Given the description of an element on the screen output the (x, y) to click on. 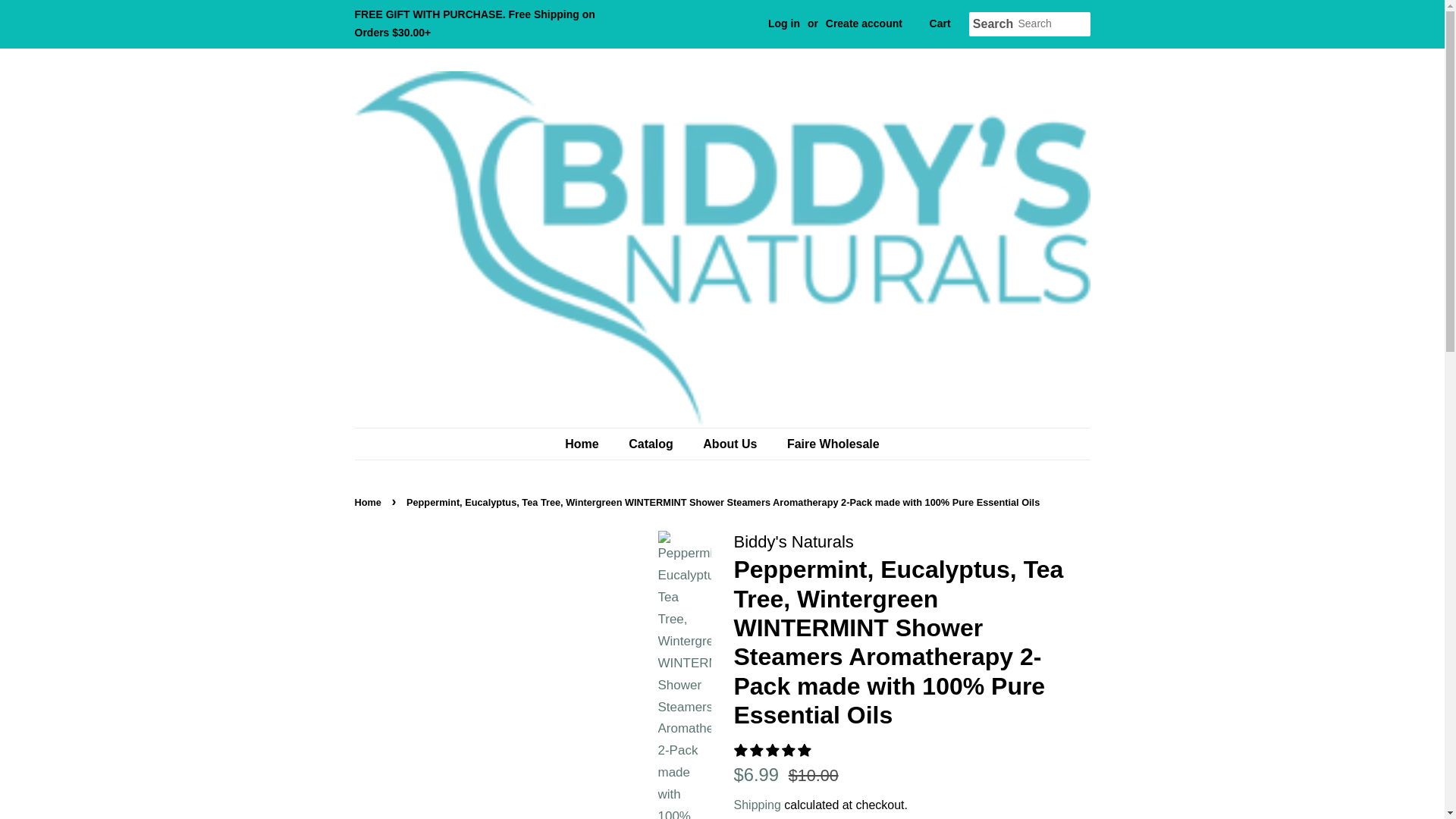
Catalog (652, 442)
Search (993, 24)
Shipping (756, 804)
Cart (940, 24)
Back to the frontpage (370, 501)
Log in (783, 23)
Home (588, 442)
Faire Wholesale (827, 442)
Create account (863, 23)
About Us (731, 442)
